Given the description of an element on the screen output the (x, y) to click on. 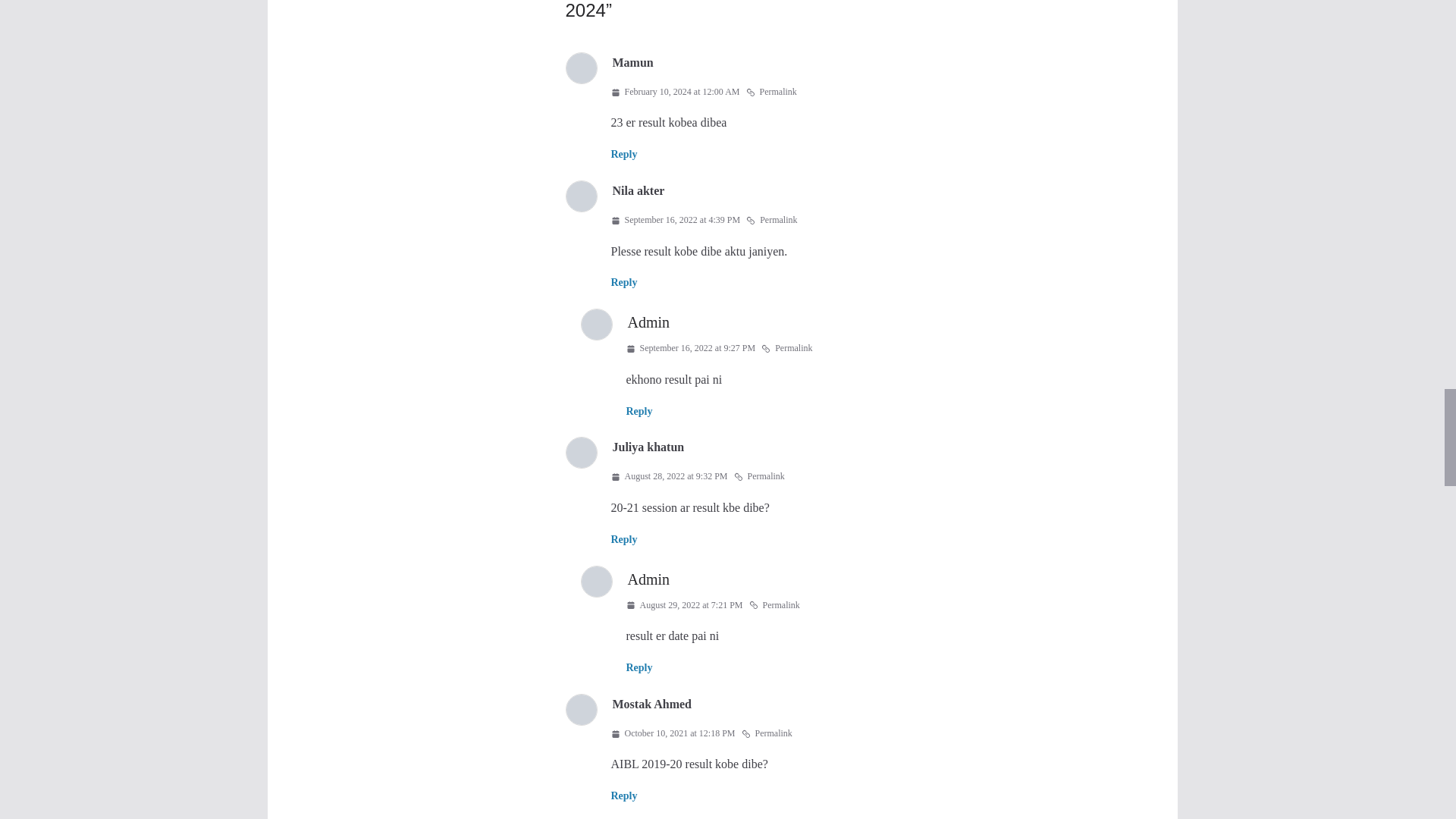
Permalink (758, 476)
Admin (648, 579)
Reply (624, 282)
Permalink (770, 92)
Reply (624, 153)
Permalink (786, 348)
Admin (648, 321)
Reply (639, 410)
Permalink (770, 220)
Reply (639, 667)
Reply (624, 539)
Permalink (774, 605)
Permalink (766, 733)
